Given the description of an element on the screen output the (x, y) to click on. 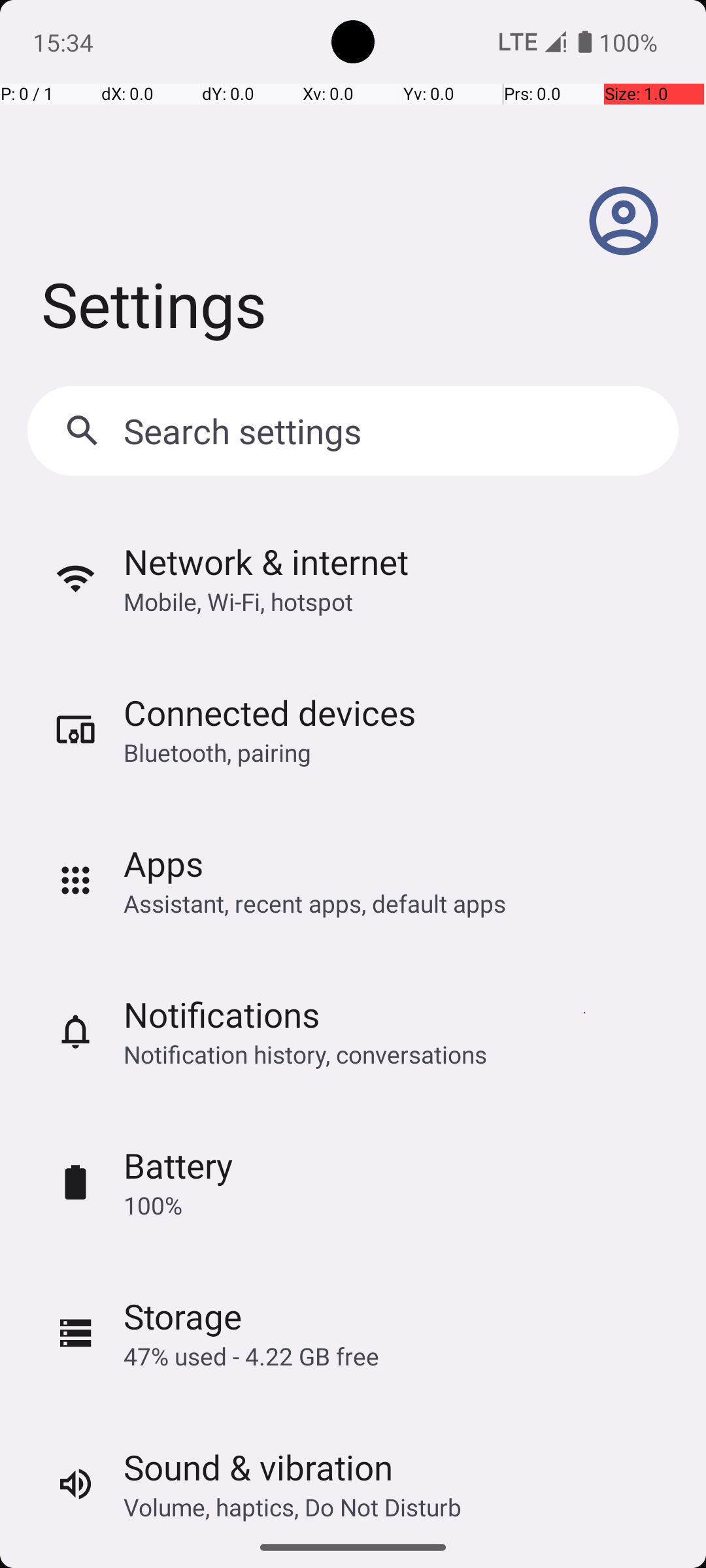
47% used - 4.22 GB free Element type: android.widget.TextView (251, 1355)
